Given the description of an element on the screen output the (x, y) to click on. 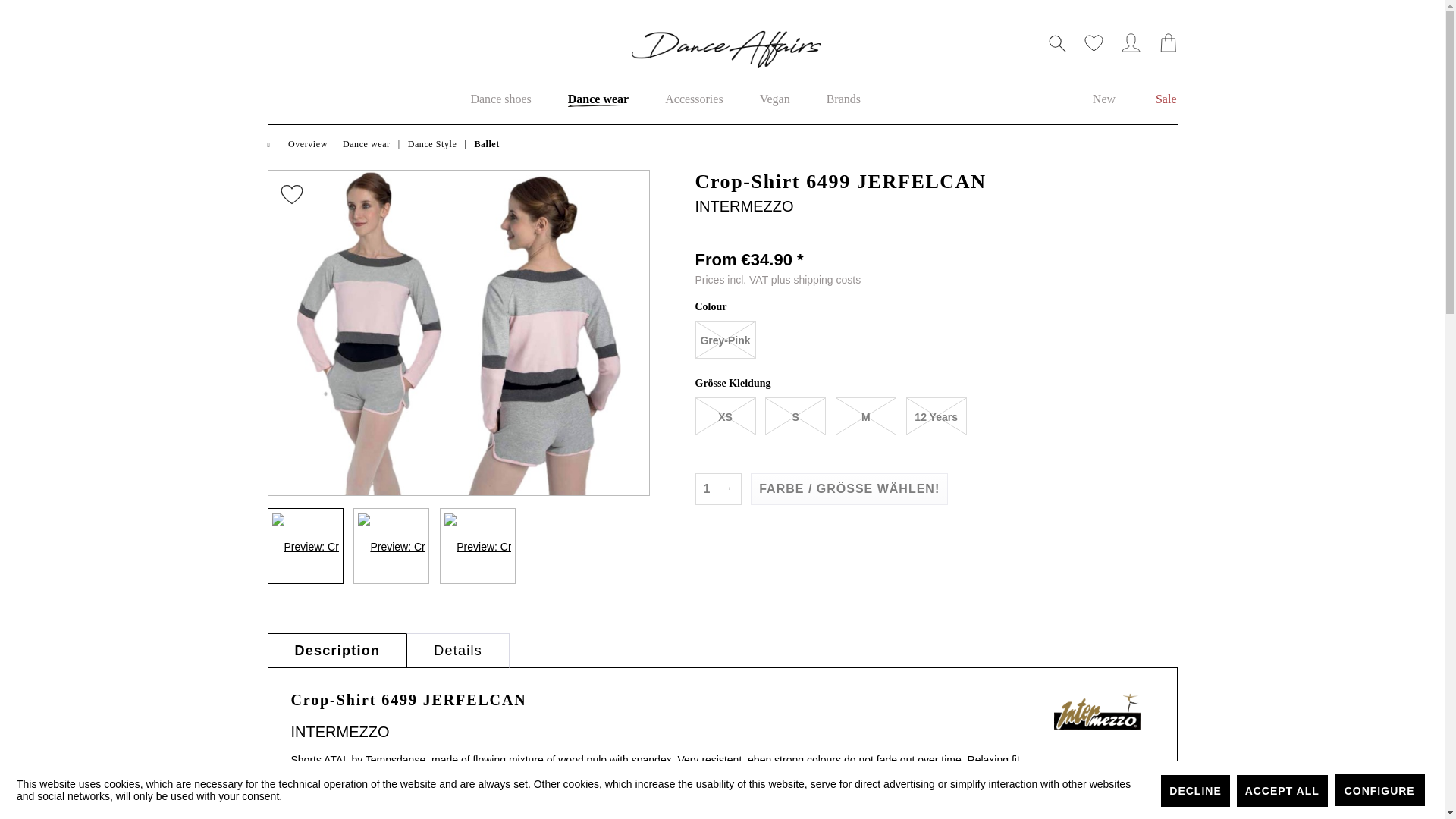
DanceAffairs - Hamburg - Switch to homepage (725, 48)
Dance wear (721, 98)
Accessories (598, 98)
Brands (693, 98)
My account (843, 98)
Dance shoes (1124, 46)
Vegan (499, 98)
New (774, 98)
Wish list (1104, 98)
Brands (1088, 46)
Vegan (843, 98)
Dance shoes (774, 98)
Accessories (499, 98)
